Given the description of an element on the screen output the (x, y) to click on. 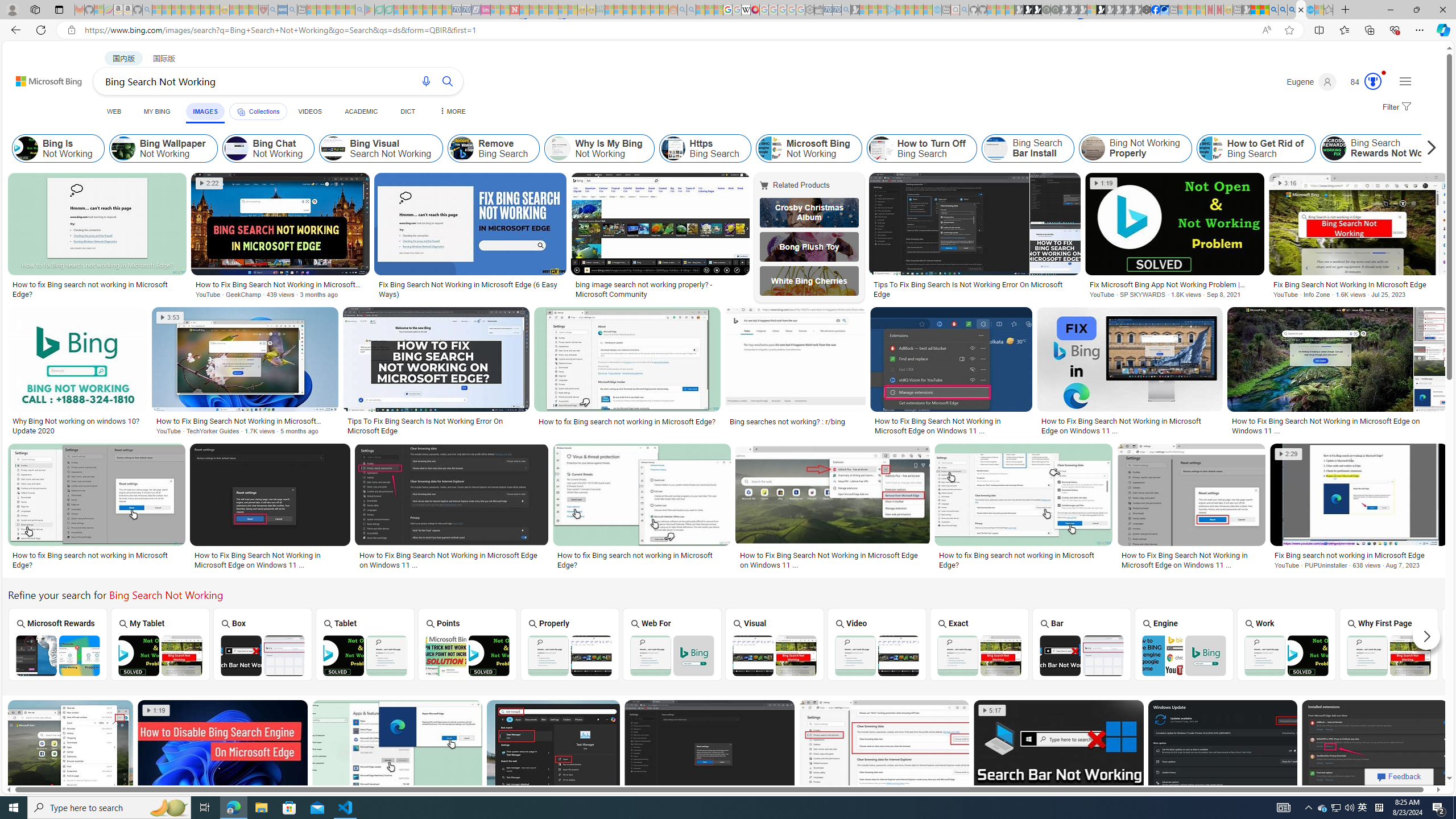
Bing searches not working? : r/bingSave (797, 372)
AutomationID: serp_medal_svg (1372, 81)
Bing Work Search Not Working (1285, 655)
Bing Chat Not Working (268, 148)
Visual (774, 643)
Tablet (364, 643)
Microsoft Rewards Bing Search Not Working Microsoft Rewards (57, 643)
ACADEMIC (360, 111)
Eugene (1311, 81)
Video (877, 643)
